Given the description of an element on the screen output the (x, y) to click on. 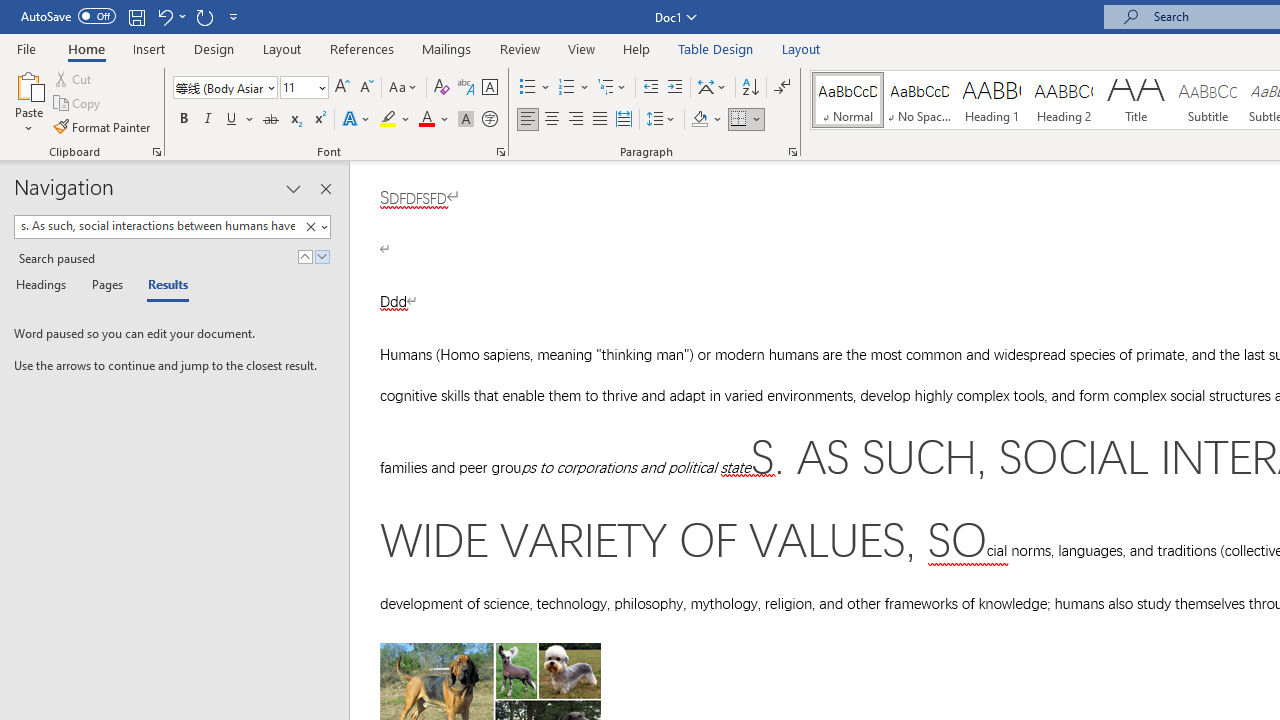
Undo Style (170, 15)
Repeat Style (204, 15)
Next Result (322, 256)
